Given the description of an element on the screen output the (x, y) to click on. 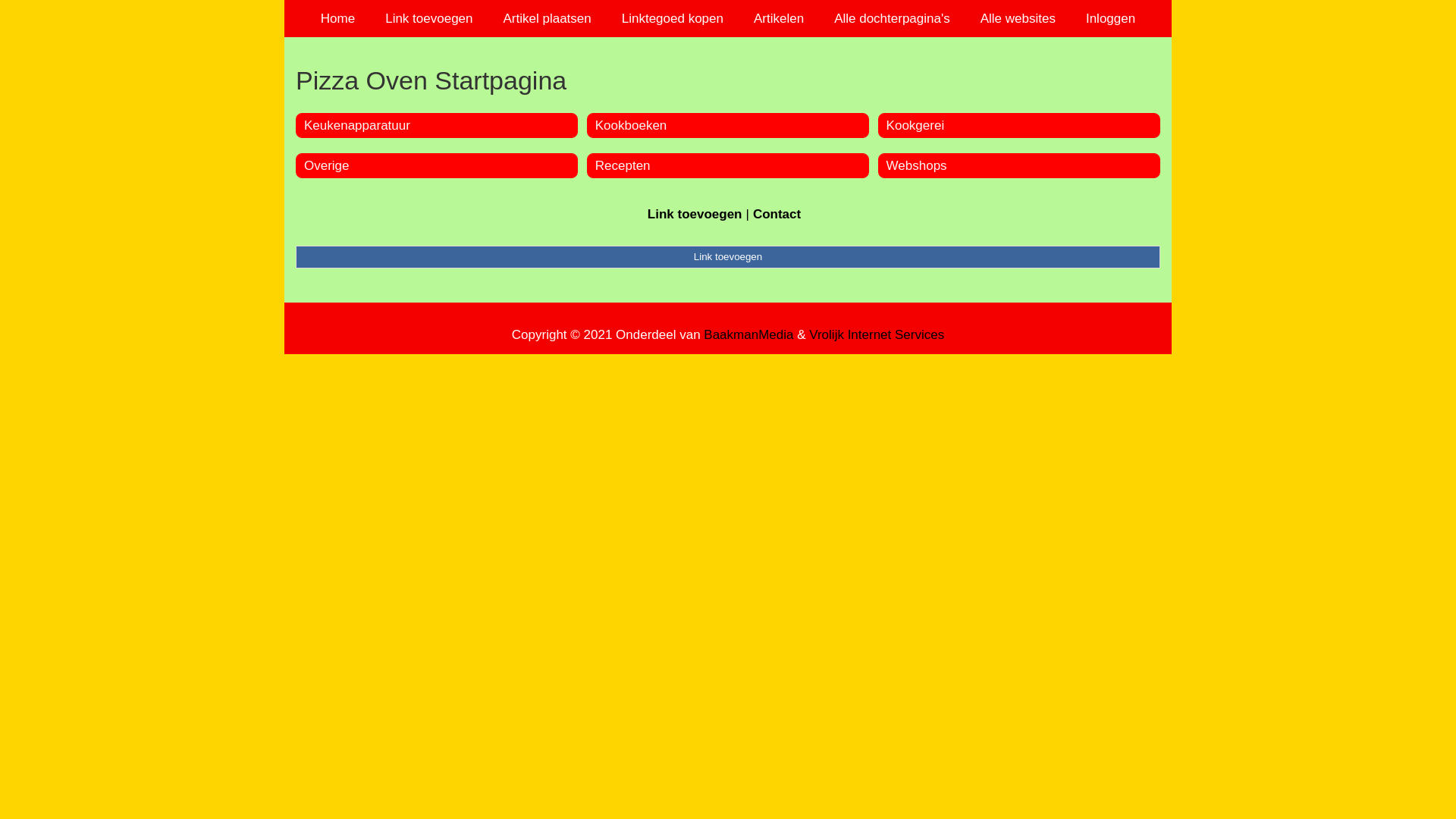
Recepten Element type: text (622, 165)
Overige Element type: text (326, 165)
Kookboeken Element type: text (631, 125)
Link toevoegen Element type: text (694, 214)
Keukenapparatuur Element type: text (357, 125)
BaakmanMedia Element type: text (748, 334)
Kookgerei Element type: text (915, 125)
Link toevoegen Element type: text (428, 18)
Inloggen Element type: text (1110, 18)
Contact Element type: text (776, 214)
Webshops Element type: text (916, 165)
Alle dochterpagina's Element type: text (892, 18)
Home Element type: text (337, 18)
Vrolijk Internet Services Element type: text (876, 334)
Link toevoegen Element type: text (727, 256)
Alle websites Element type: text (1017, 18)
Artikelen Element type: text (778, 18)
Pizza Oven Startpagina Element type: text (727, 80)
Linktegoed kopen Element type: text (672, 18)
Artikel plaatsen Element type: text (547, 18)
